Given the description of an element on the screen output the (x, y) to click on. 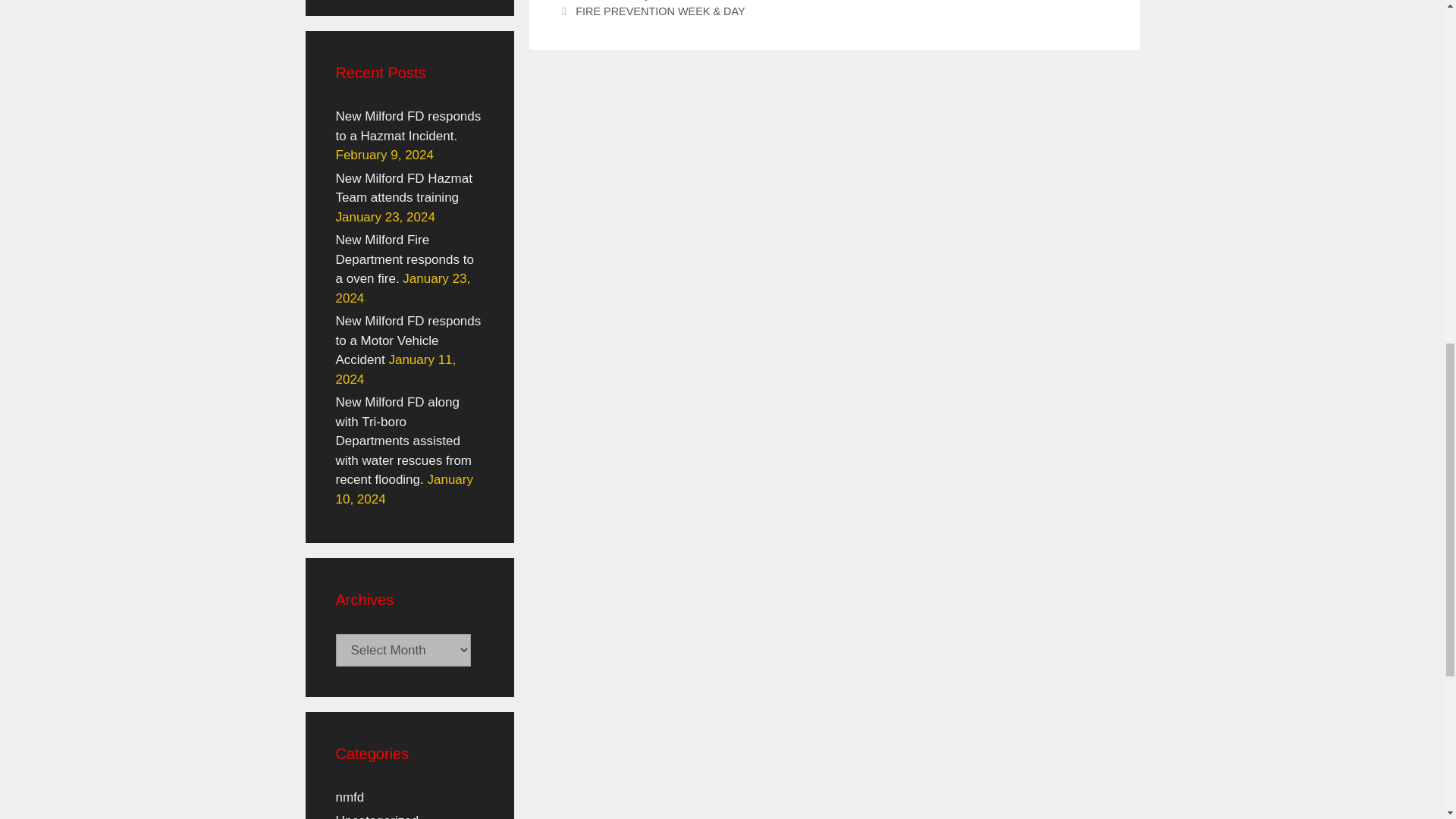
New Milford FD Hazmat Team attends training (402, 188)
New Milford FD responds to a Motor Vehicle Accident (407, 339)
New Milford Fire Department responds to a oven fire. (403, 258)
nmfd (349, 797)
New Milford FD responds to a Hazmat Incident. (407, 125)
Uncategorized (376, 816)
